Given the description of an element on the screen output the (x, y) to click on. 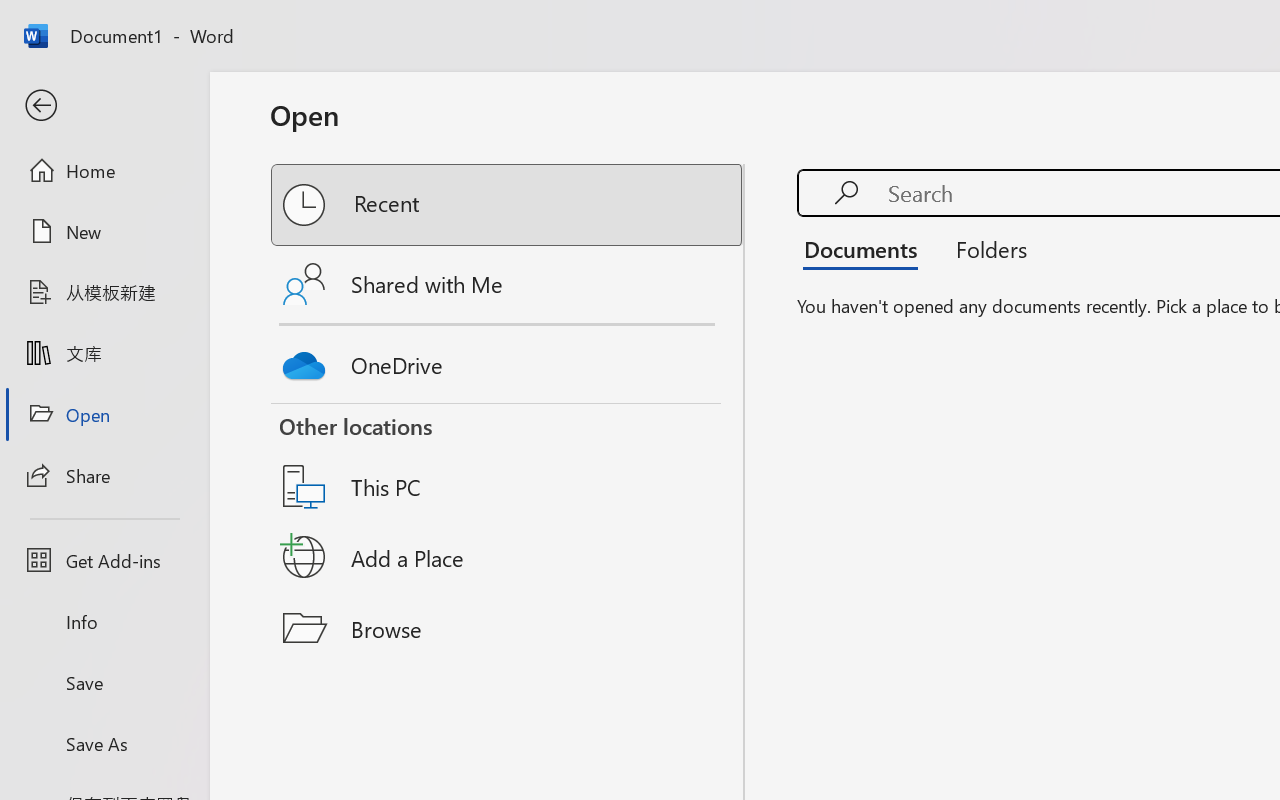
New (104, 231)
Back (104, 106)
Recent (507, 205)
